Given the description of an element on the screen output the (x, y) to click on. 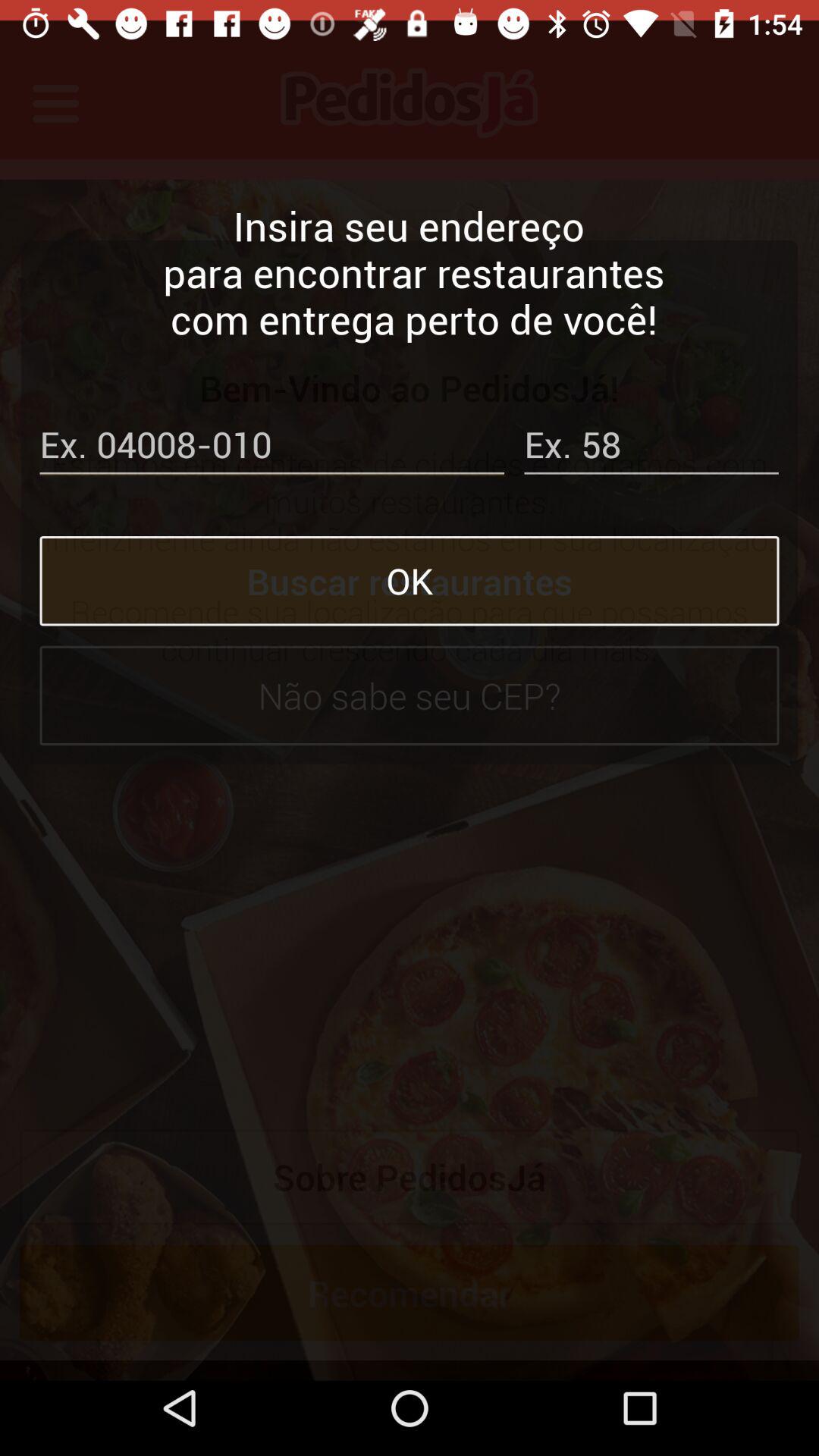
open icon below the buscar restaurantes (409, 675)
